Given the description of an element on the screen output the (x, y) to click on. 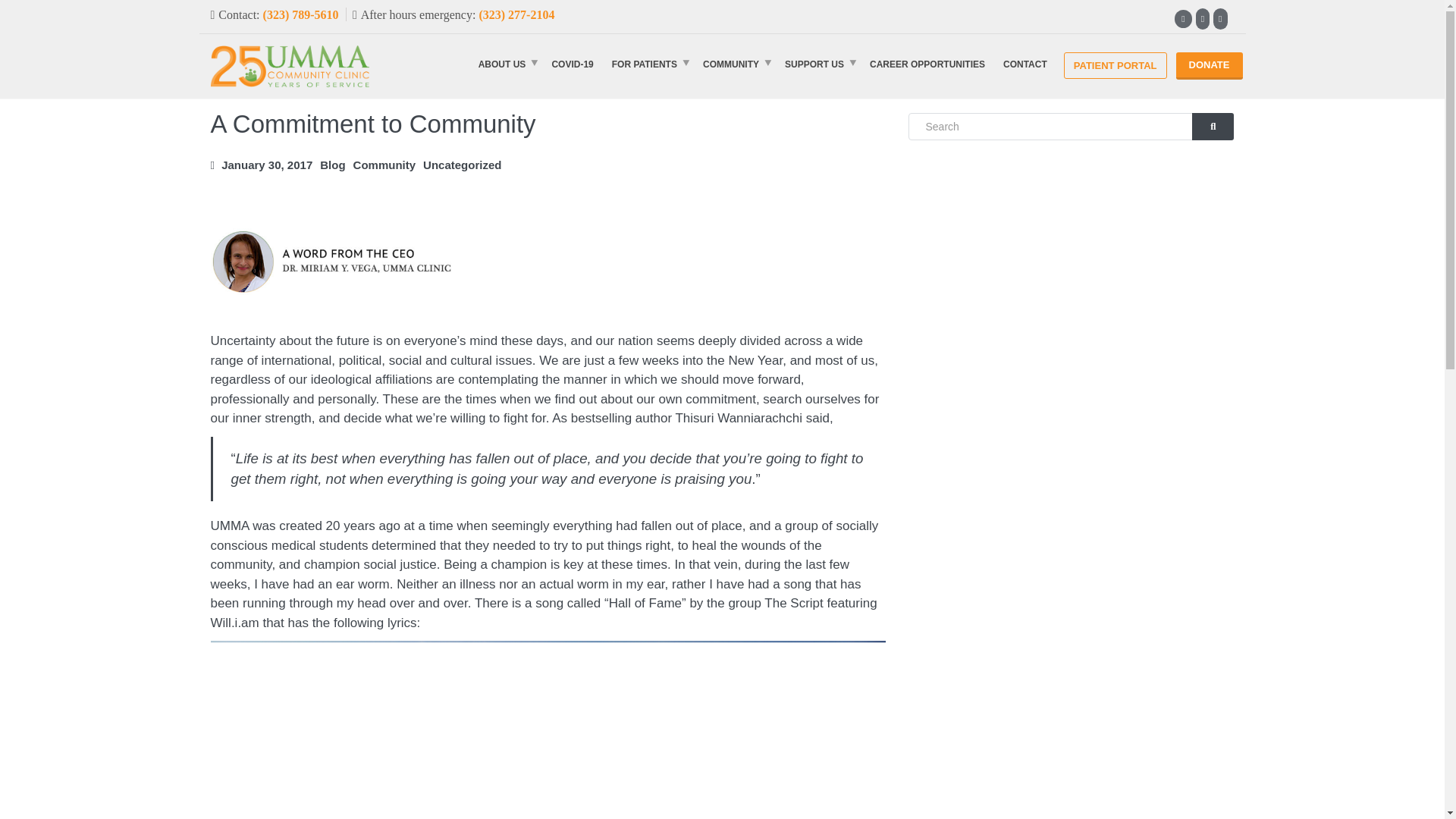
Uncategorized (465, 164)
Community (388, 164)
FOR PATIENTS (648, 64)
COVID-19 (571, 64)
COVID-19 (571, 64)
CONTACT (1025, 64)
ABOUT US (505, 64)
PATIENT PORTAL (1115, 65)
SUPPORT US (818, 64)
CAREER OPPORTUNITIES (927, 64)
